Given the description of an element on the screen output the (x, y) to click on. 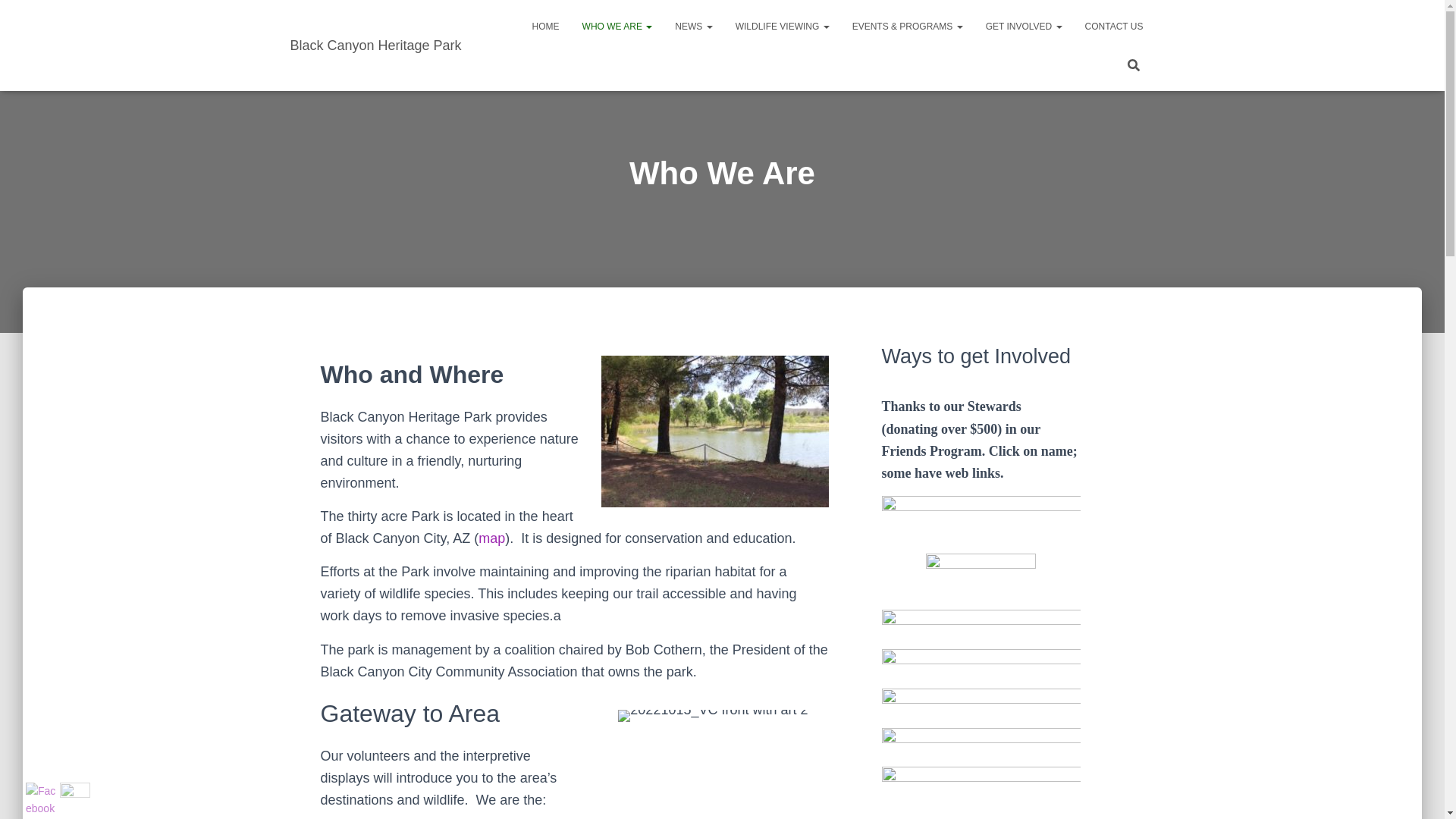
Black Canyon Heritage Park (376, 45)
Home (545, 26)
Black Canyon Heritage Park (376, 45)
Search (16, 16)
WILDLIFE VIEWING (782, 26)
NEWS (693, 26)
WHO WE ARE (616, 26)
GET INVOLVED (1024, 26)
Who We Are (616, 26)
map (492, 538)
